Given the description of an element on the screen output the (x, y) to click on. 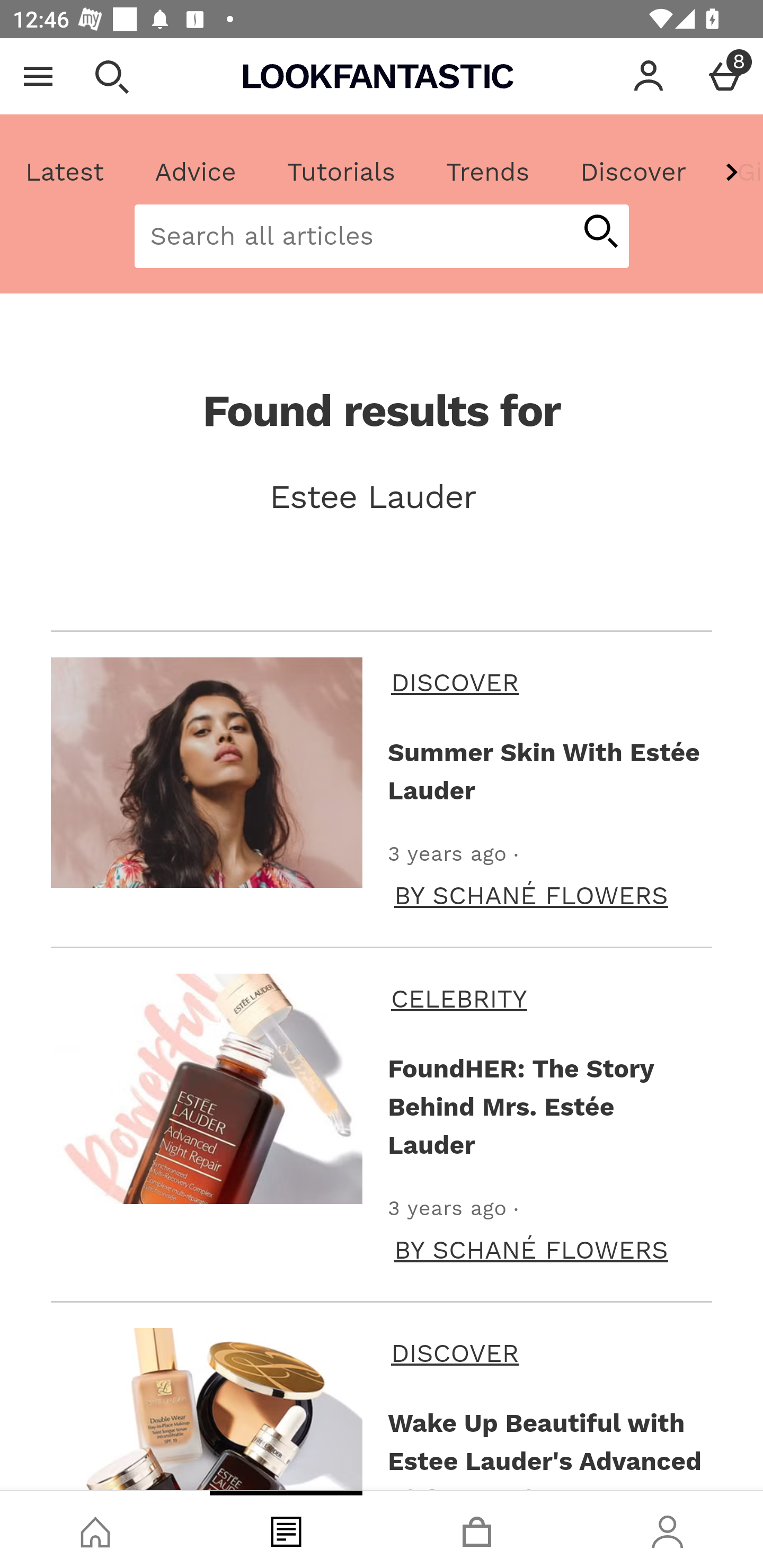
Open Menu (38, 75)
Open search (111, 75)
Account (648, 75)
Basket Menu (724, 75)
Latest (65, 172)
Advice (195, 172)
Tutorials (340, 172)
Trends (486, 172)
Discover (632, 172)
Gift Guide (736, 172)
start article search (599, 232)
Estee Lauder (381, 496)
DISCOVER (547, 682)
Summer Skin With Estée Lauder (546, 771)
BY SCHANÉ FLOWERS (531, 894)
CELEBRITY (547, 998)
FoundHER: The Story Behind Mrs. Estée Lauder (546, 1106)
BY SCHANÉ FLOWERS (531, 1249)
DISCOVER (547, 1352)
Shop, tab, 1 of 4 (95, 1529)
Blog, tab, 2 of 4 (285, 1529)
Basket, tab, 3 of 4 (476, 1529)
Account, tab, 4 of 4 (667, 1529)
